Given the description of an element on the screen output the (x, y) to click on. 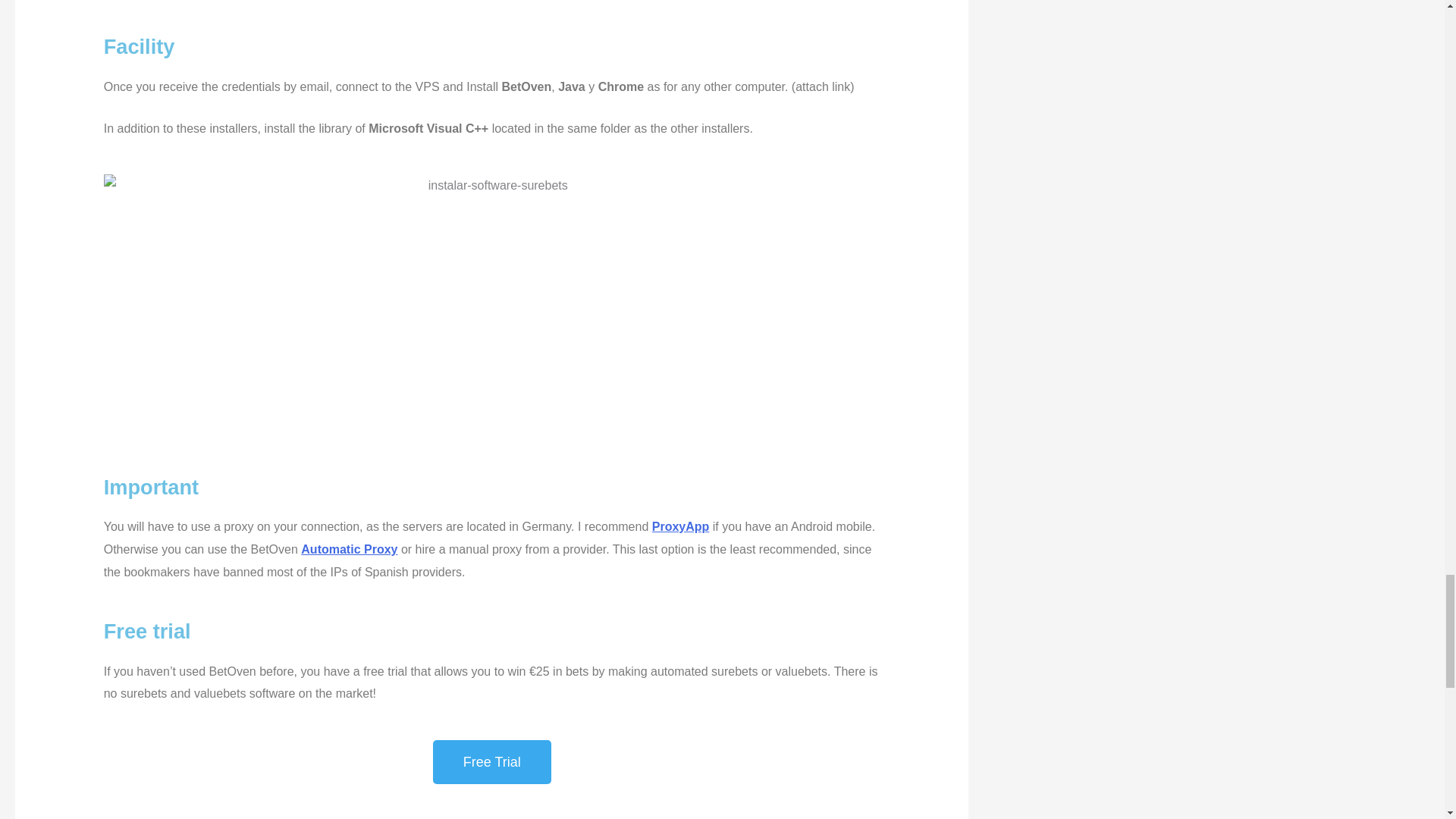
ProxyApp (681, 526)
Free Trial (491, 761)
Automatic Proxy (349, 549)
